Given the description of an element on the screen output the (x, y) to click on. 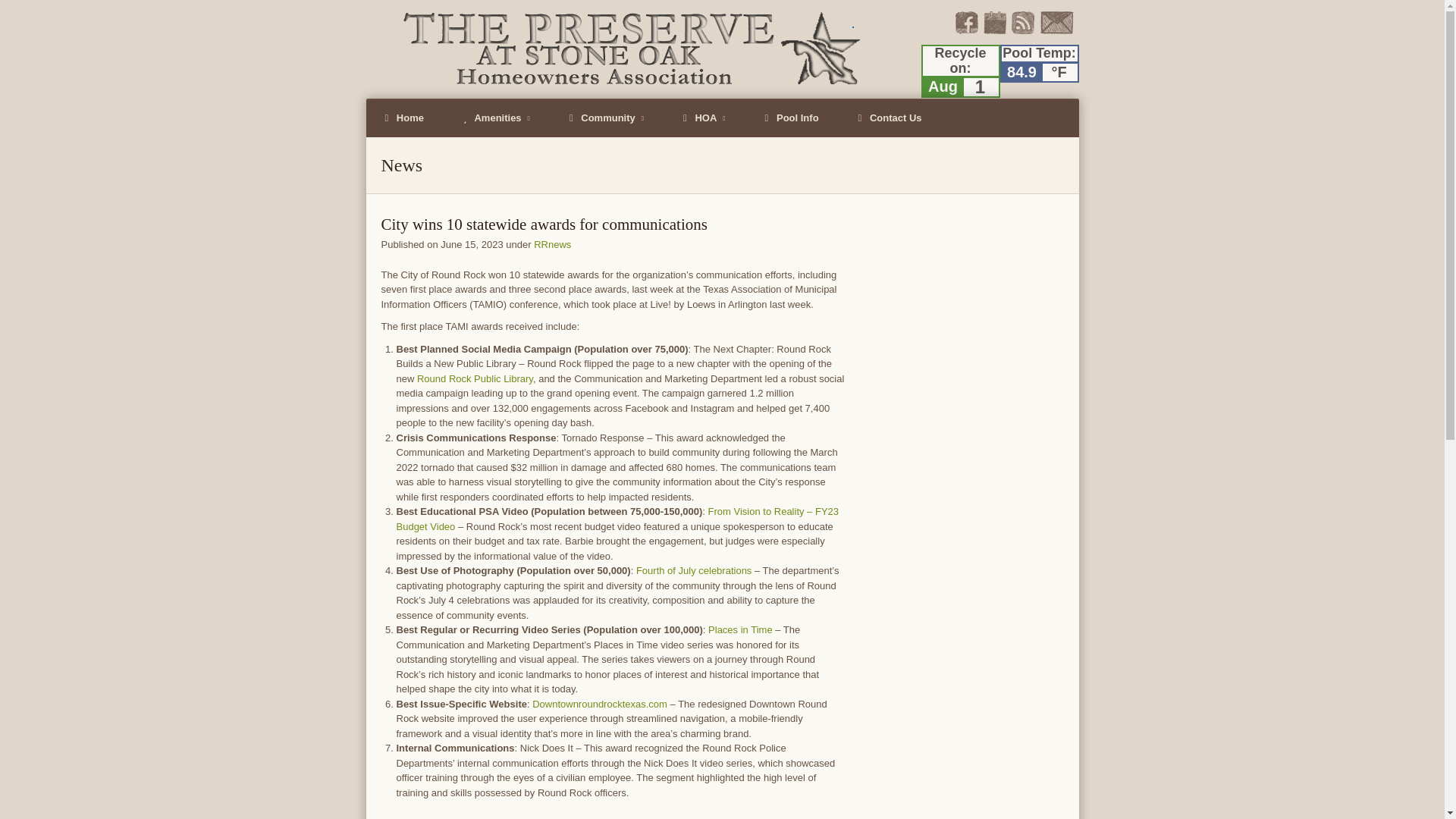
Contact (1056, 30)
The Preserve at Stone Oak HOA (616, 48)
HOA (703, 118)
Pool Info (791, 118)
Calendar (994, 30)
Facebook (966, 30)
Community (606, 118)
Home (403, 118)
Amenities (496, 118)
RSS Feed (1022, 30)
RRnews (552, 244)
